Given the description of an element on the screen output the (x, y) to click on. 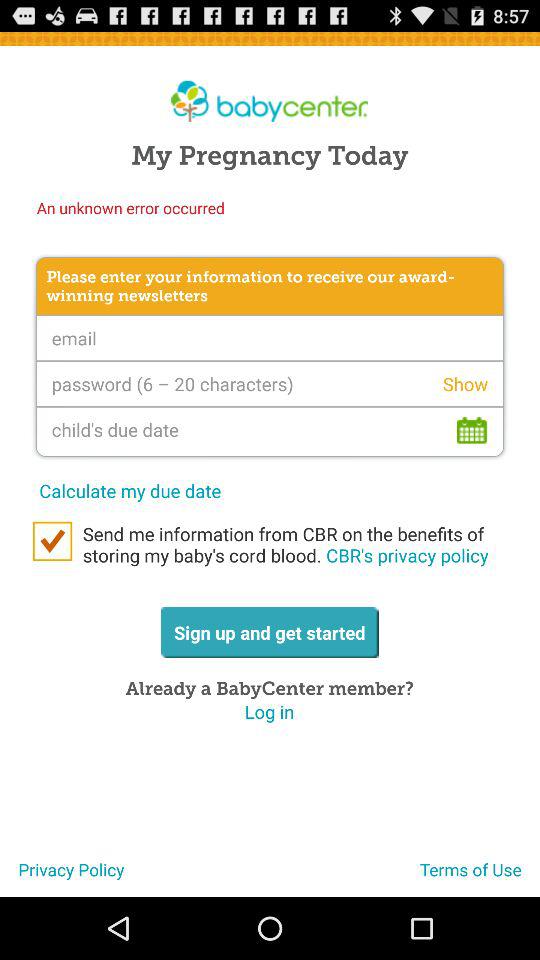
open icon below calculate my due item (289, 544)
